Given the description of an element on the screen output the (x, y) to click on. 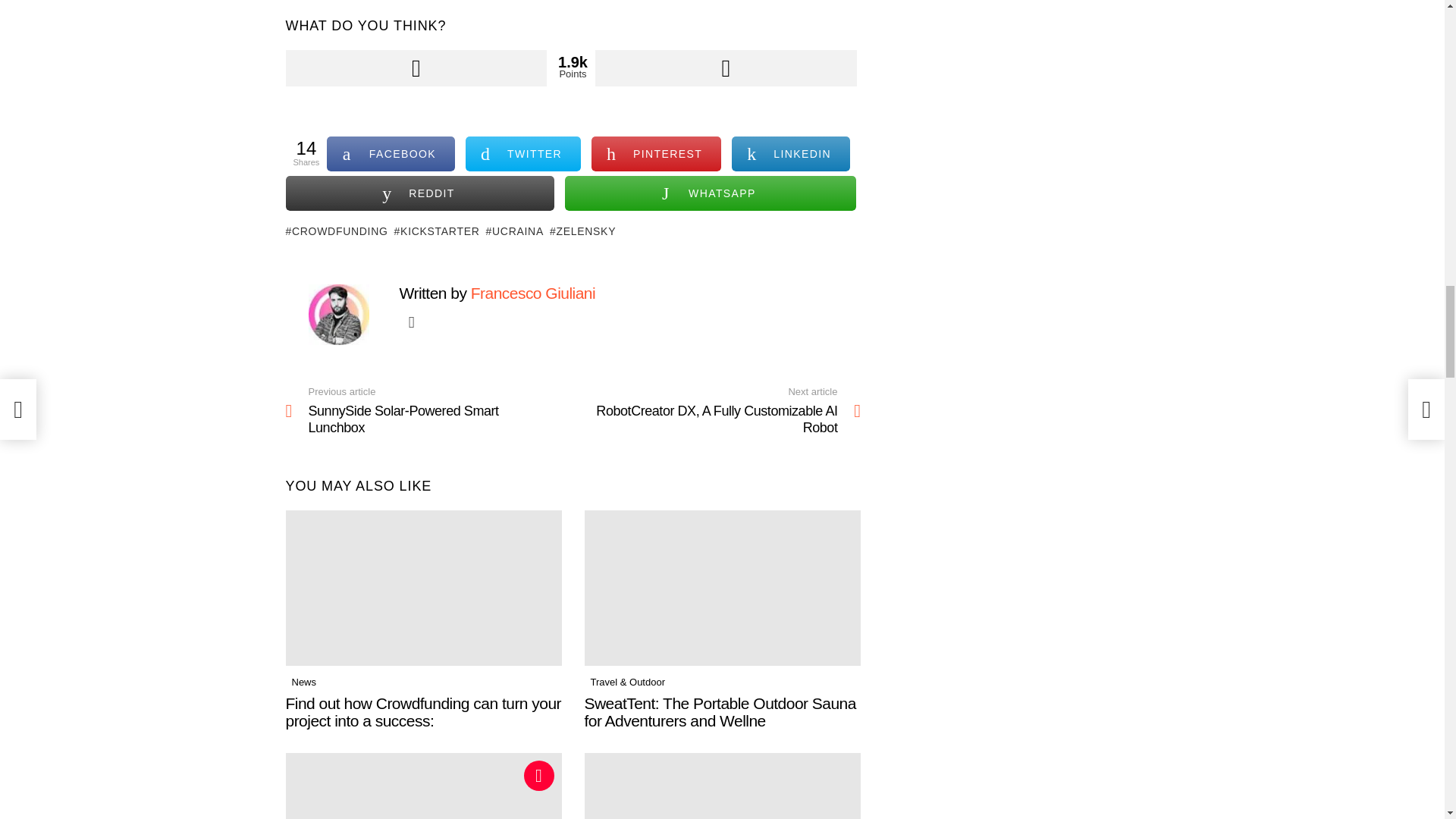
Downvote (726, 67)
Upvote (416, 67)
Upvote (416, 67)
